Given the description of an element on the screen output the (x, y) to click on. 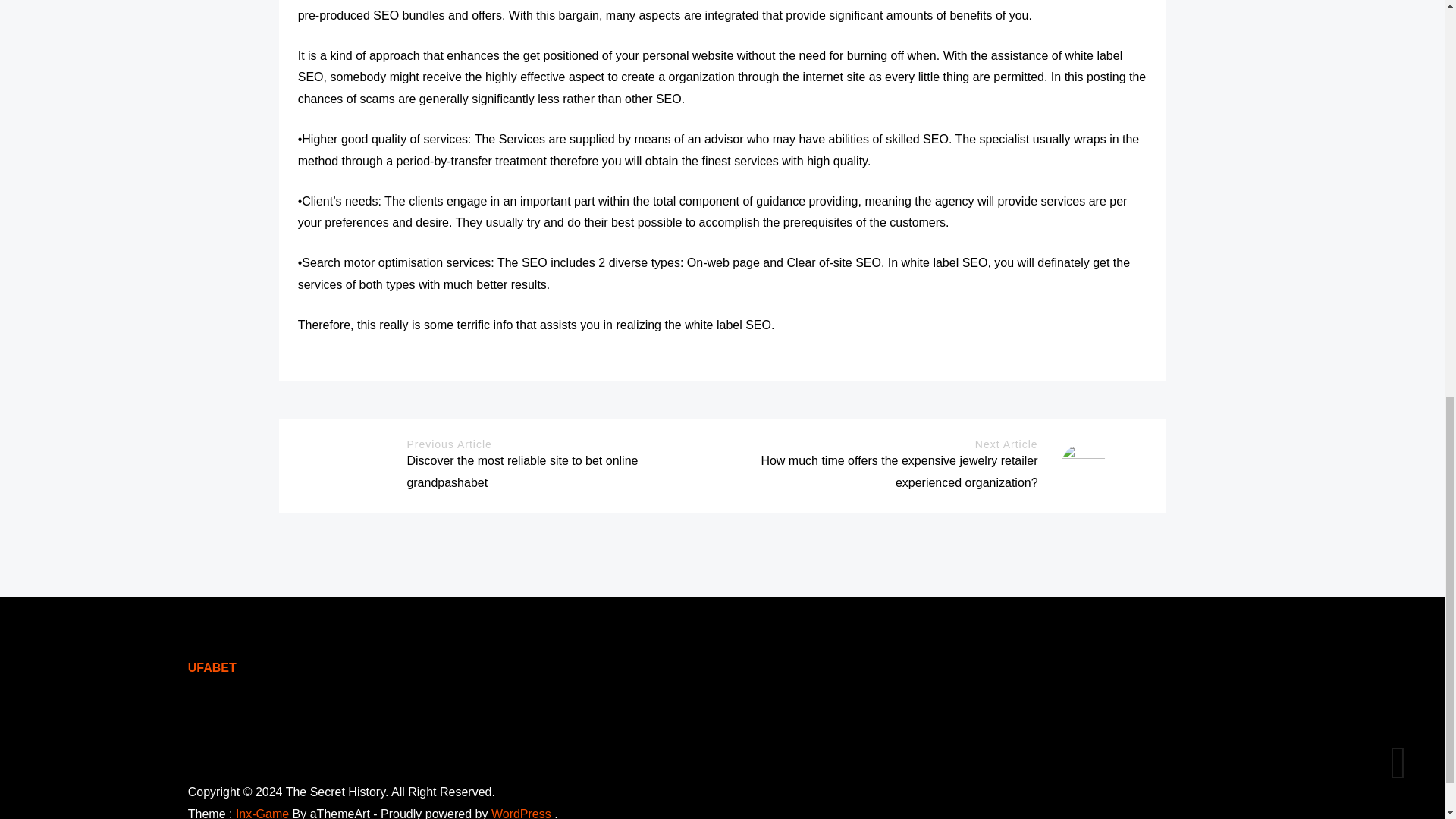
Discover the most reliable site to bet online grandpashabet (521, 471)
Inx-Game (261, 813)
UFABET (211, 667)
WordPress (521, 813)
